Given the description of an element on the screen output the (x, y) to click on. 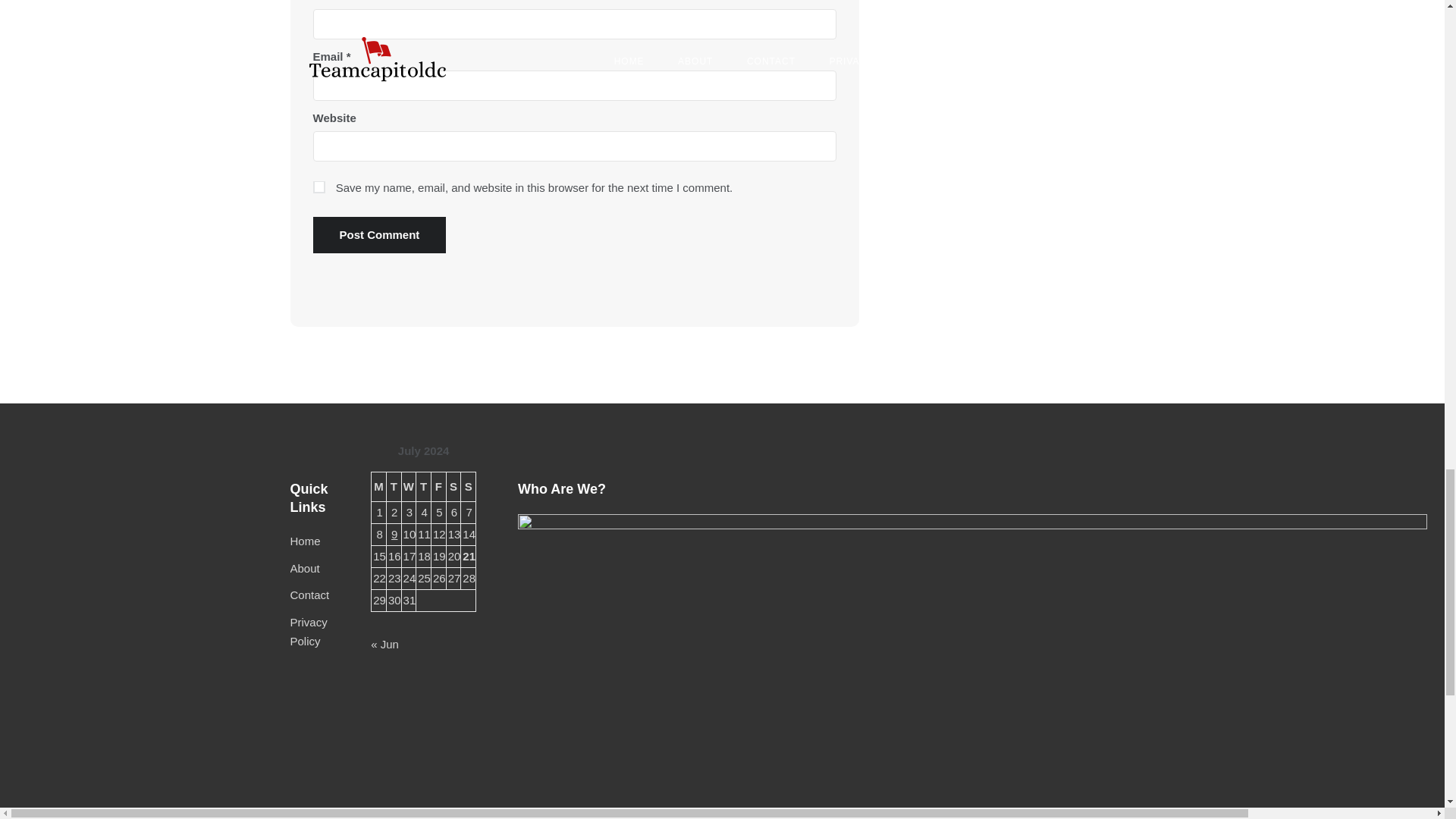
yes (318, 186)
Home (304, 540)
Post Comment (379, 235)
Post Comment (379, 235)
